Given the description of an element on the screen output the (x, y) to click on. 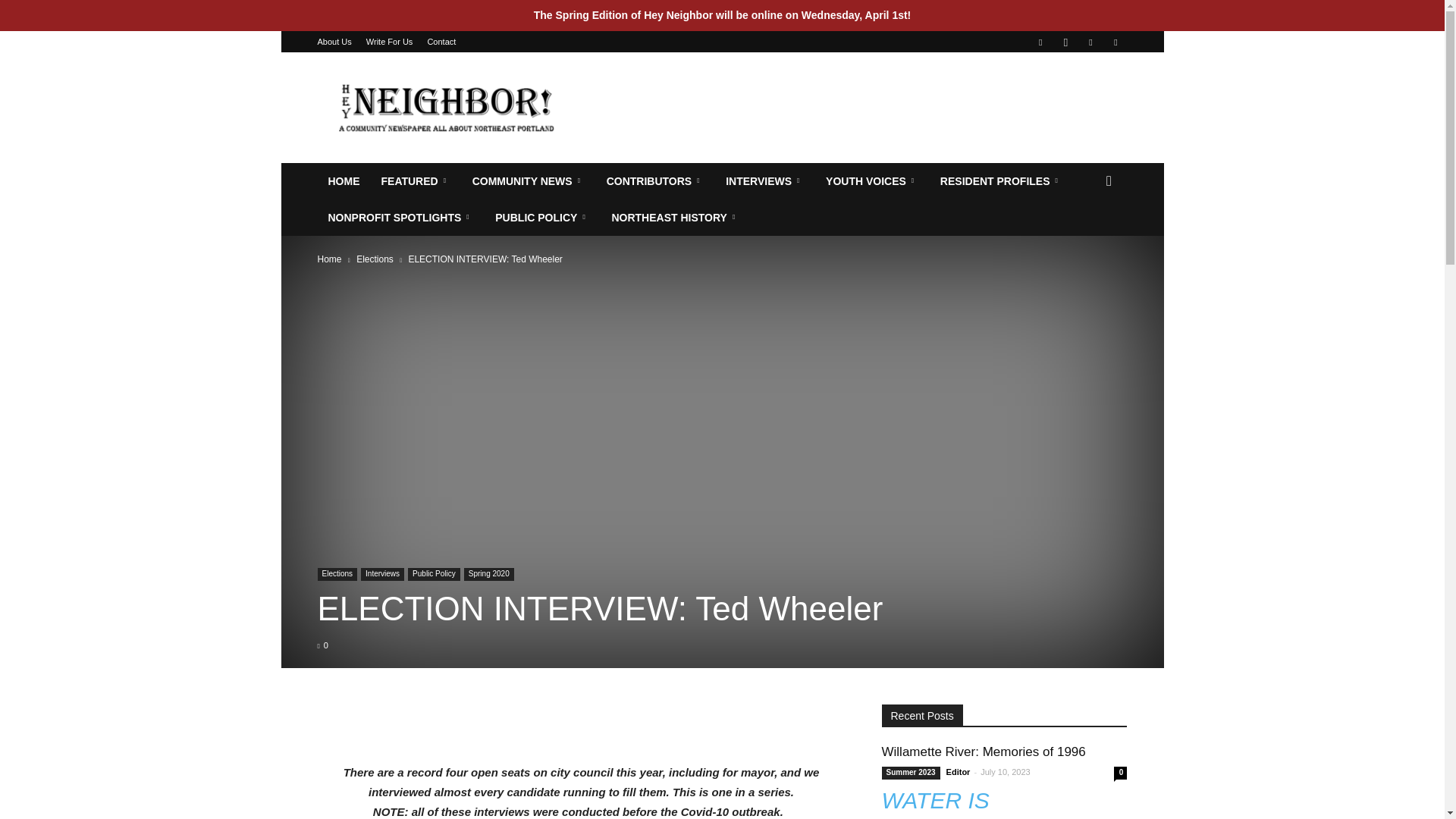
Write For Us (389, 40)
Youtube (1114, 41)
Contact (440, 40)
About Us (333, 40)
Instagram (1065, 41)
FEATURED (415, 180)
Facebook (1040, 41)
HOME (343, 180)
Twitter (1090, 41)
